Given the description of an element on the screen output the (x, y) to click on. 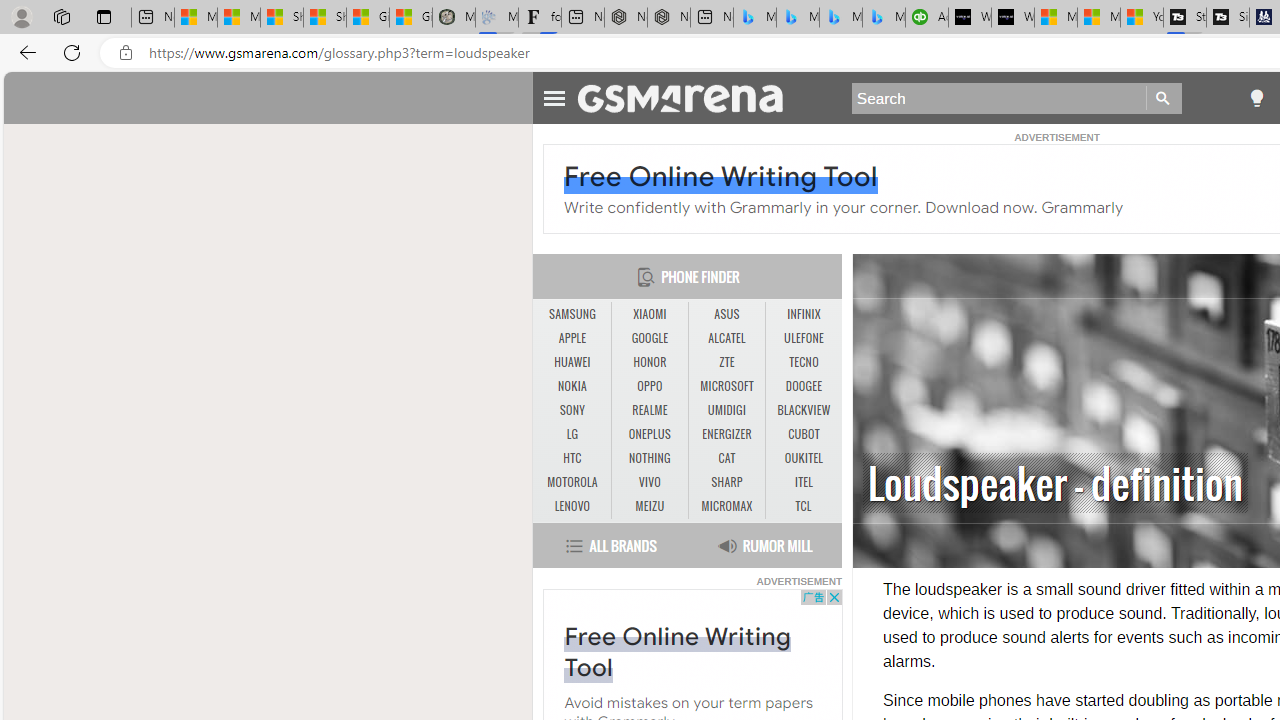
HONOR (649, 362)
Accounting Software for Accountants, CPAs and Bookkeepers (927, 17)
CAT (726, 458)
APPLE (571, 338)
APPLE (571, 339)
Go (1163, 97)
ITEL (803, 482)
ZTE (726, 362)
UMIDIGI (726, 410)
OUKITEL (803, 458)
ITEL (803, 483)
